Given the description of an element on the screen output the (x, y) to click on. 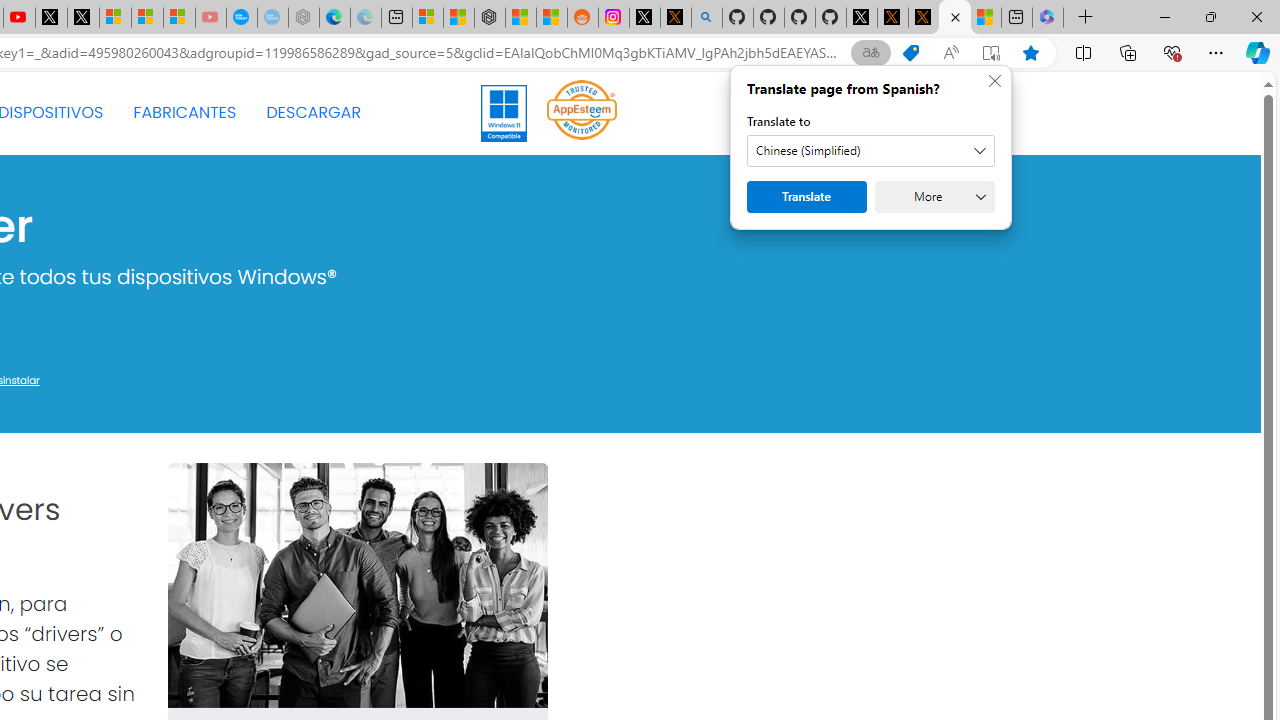
App Esteem (582, 112)
Microsoft account | Microsoft Account Privacy Settings (427, 17)
App Esteem (582, 109)
Translate to (870, 151)
X (82, 17)
DESCARGAR (313, 112)
